Given the description of an element on the screen output the (x, y) to click on. 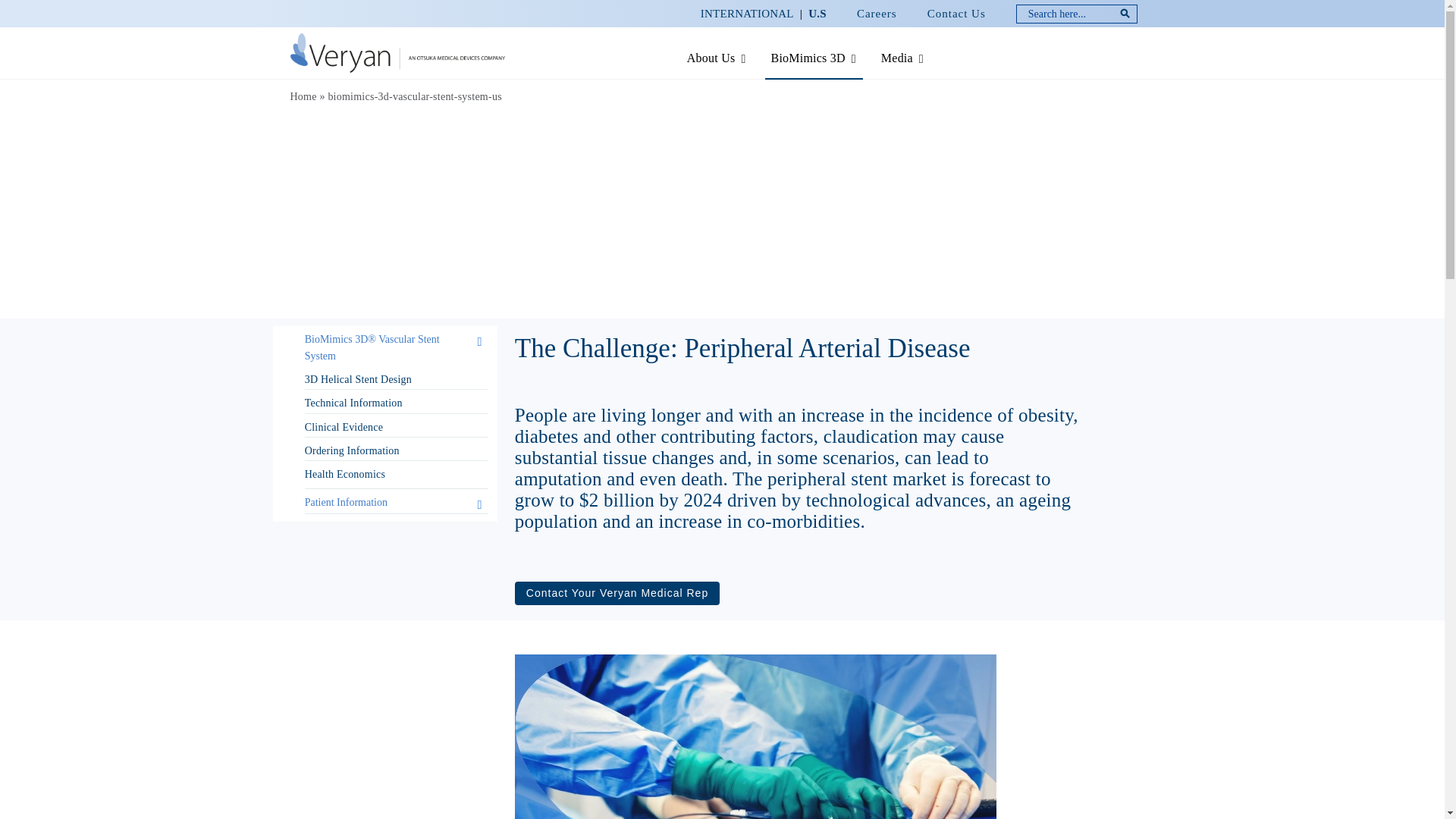
Home (302, 96)
Media (906, 58)
3D Helical Stent Design (358, 378)
Contact Us (956, 13)
BioMimics 3D (818, 58)
Careers (876, 13)
U.S (817, 13)
Health Economics (344, 473)
Technical Information (353, 402)
Clinical Evidence (343, 427)
Ordering Information (351, 450)
About Us (721, 58)
INTERNATIONAL (746, 13)
